Given the description of an element on the screen output the (x, y) to click on. 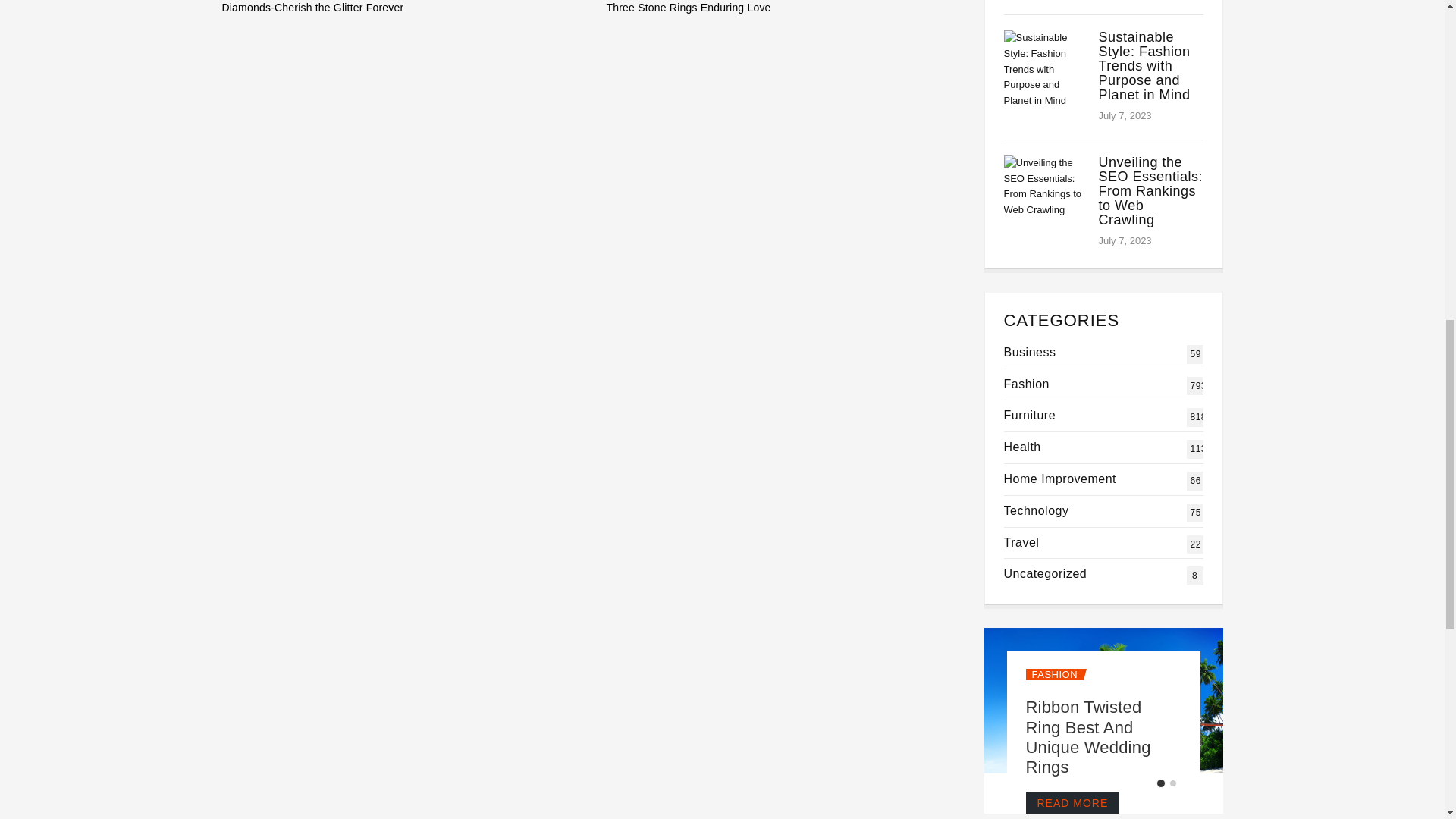
Unveiling the SEO Essentials: From Rankings to Web Crawling (1149, 190)
Travel (1021, 542)
Ribbon Twisted Ring Best And Unique Wedding Rings (1087, 736)
Technology (1036, 510)
Unveiling the SEO Essentials: From Rankings to Web Crawling (1149, 190)
Health (1022, 446)
Home Improvement (1060, 478)
Three Stone Rings Enduring Love (783, 9)
Uncategorized (1045, 573)
